Given the description of an element on the screen output the (x, y) to click on. 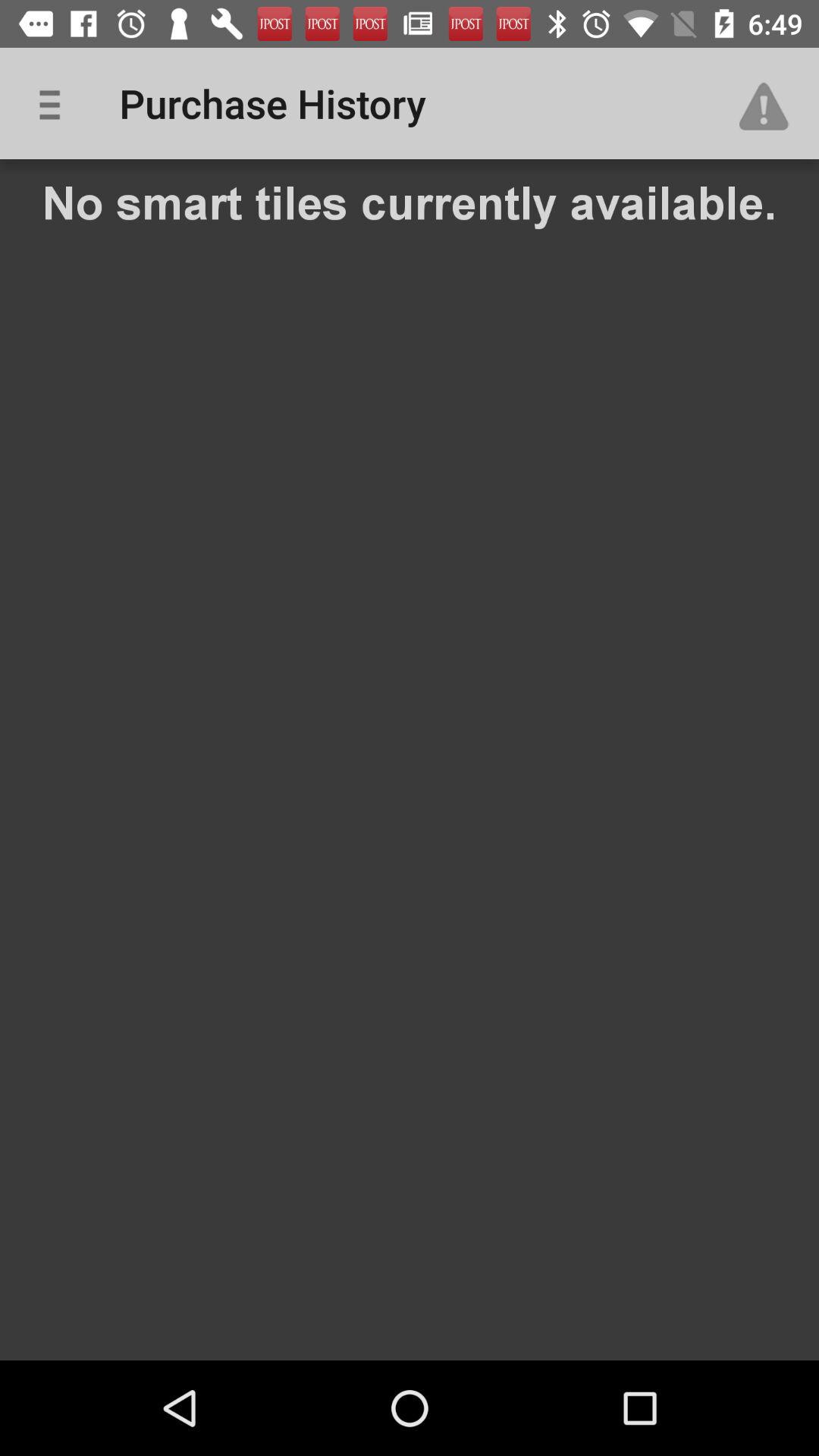
tap the app to the left of the purchase history item (55, 103)
